Given the description of an element on the screen output the (x, y) to click on. 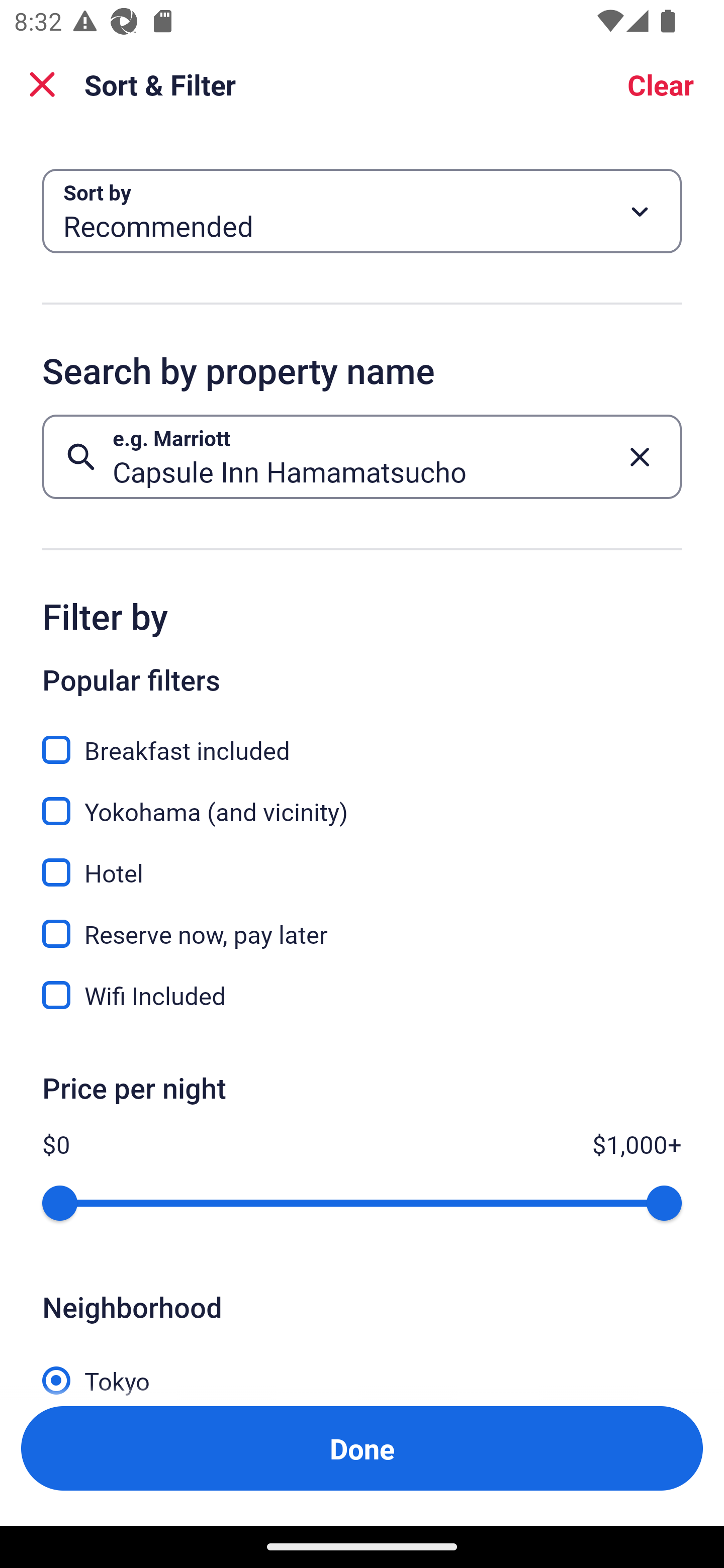
Close Sort and Filter (42, 84)
Clear (660, 84)
Sort by Button Recommended (361, 211)
e.g. Marriott Button Capsule Inn Hamamatsucho (361, 455)
Breakfast included, Breakfast included (361, 738)
Yokohama (and vicinity), Yokohama (and vicinity) (361, 800)
Hotel, Hotel (361, 861)
Reserve now, pay later, Reserve now, pay later (361, 922)
Wifi Included, Wifi Included (361, 995)
Apply and close Sort and Filter Done (361, 1448)
